Given the description of an element on the screen output the (x, y) to click on. 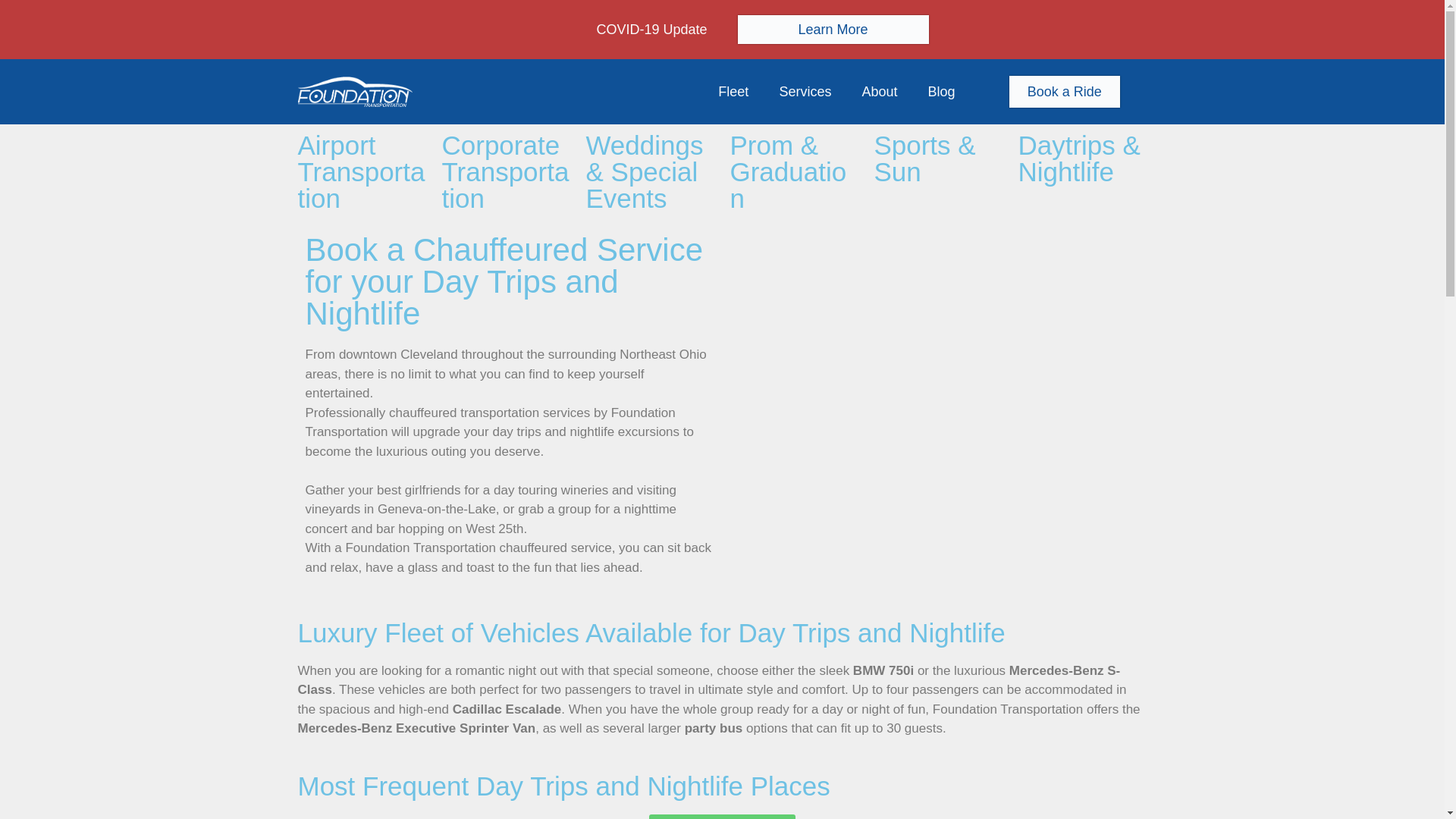
Blog (940, 91)
Fleet (732, 91)
About (878, 91)
Services (803, 91)
Book a Ride (1064, 91)
Book a Ride Today (722, 816)
Learn More (832, 29)
